Given the description of an element on the screen output the (x, y) to click on. 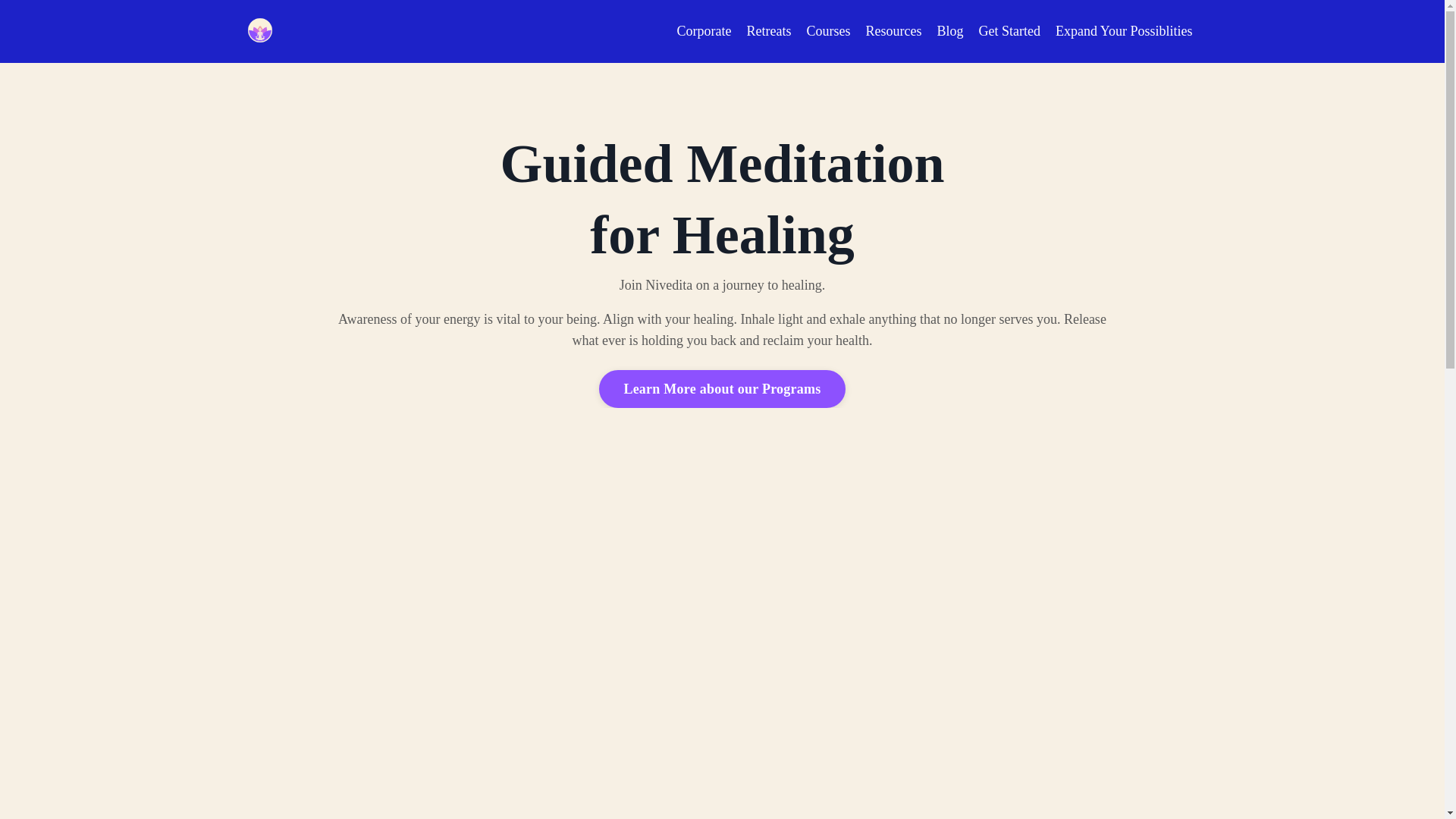
Corporate (704, 31)
Learn More about our Programs (721, 388)
Expand Your Possiblities (1123, 31)
Blog (949, 31)
Retreats (767, 31)
Resources (892, 31)
Courses (828, 31)
Get Started (1008, 31)
